Given the description of an element on the screen output the (x, y) to click on. 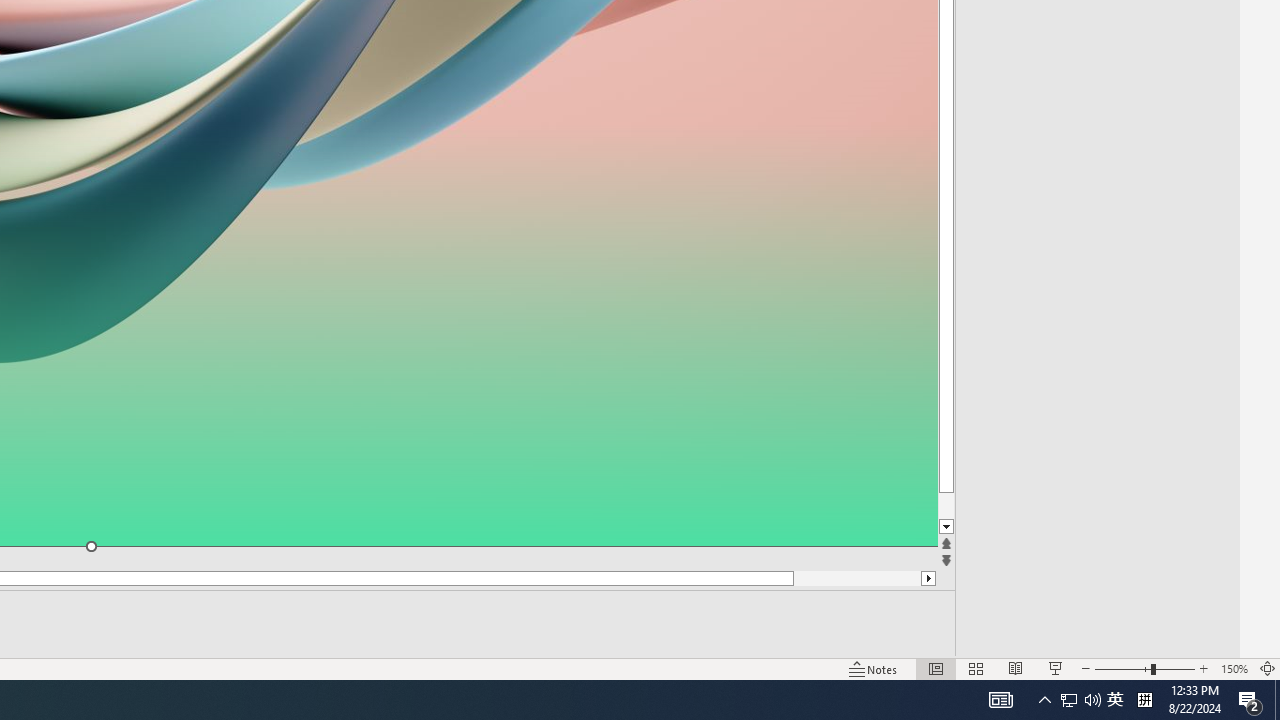
Zoom 150% (1234, 668)
Action Center, 2 new notifications (1250, 699)
